Given the description of an element on the screen output the (x, y) to click on. 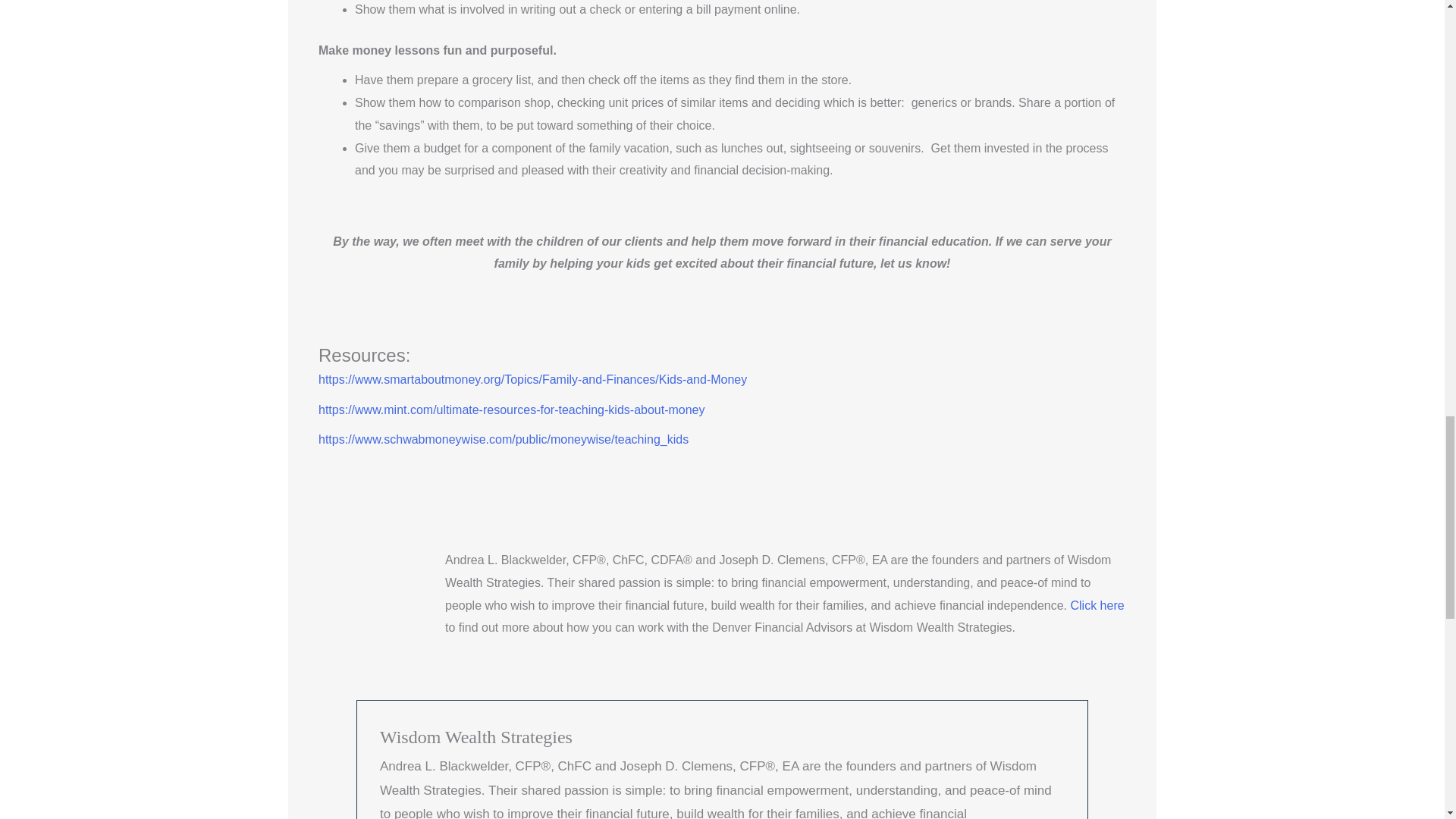
Click here (1097, 604)
